Given the description of an element on the screen output the (x, y) to click on. 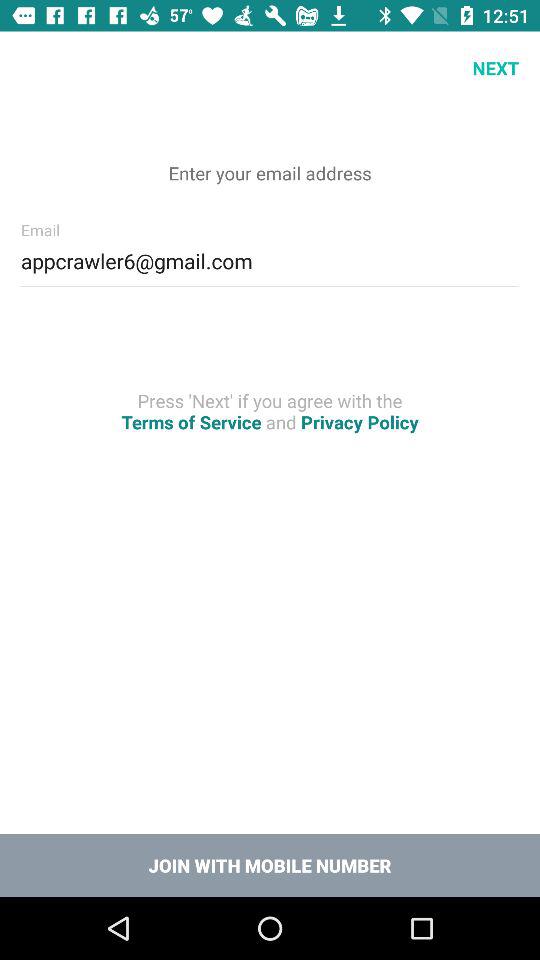
select item above join with mobile icon (270, 411)
